Given the description of an element on the screen output the (x, y) to click on. 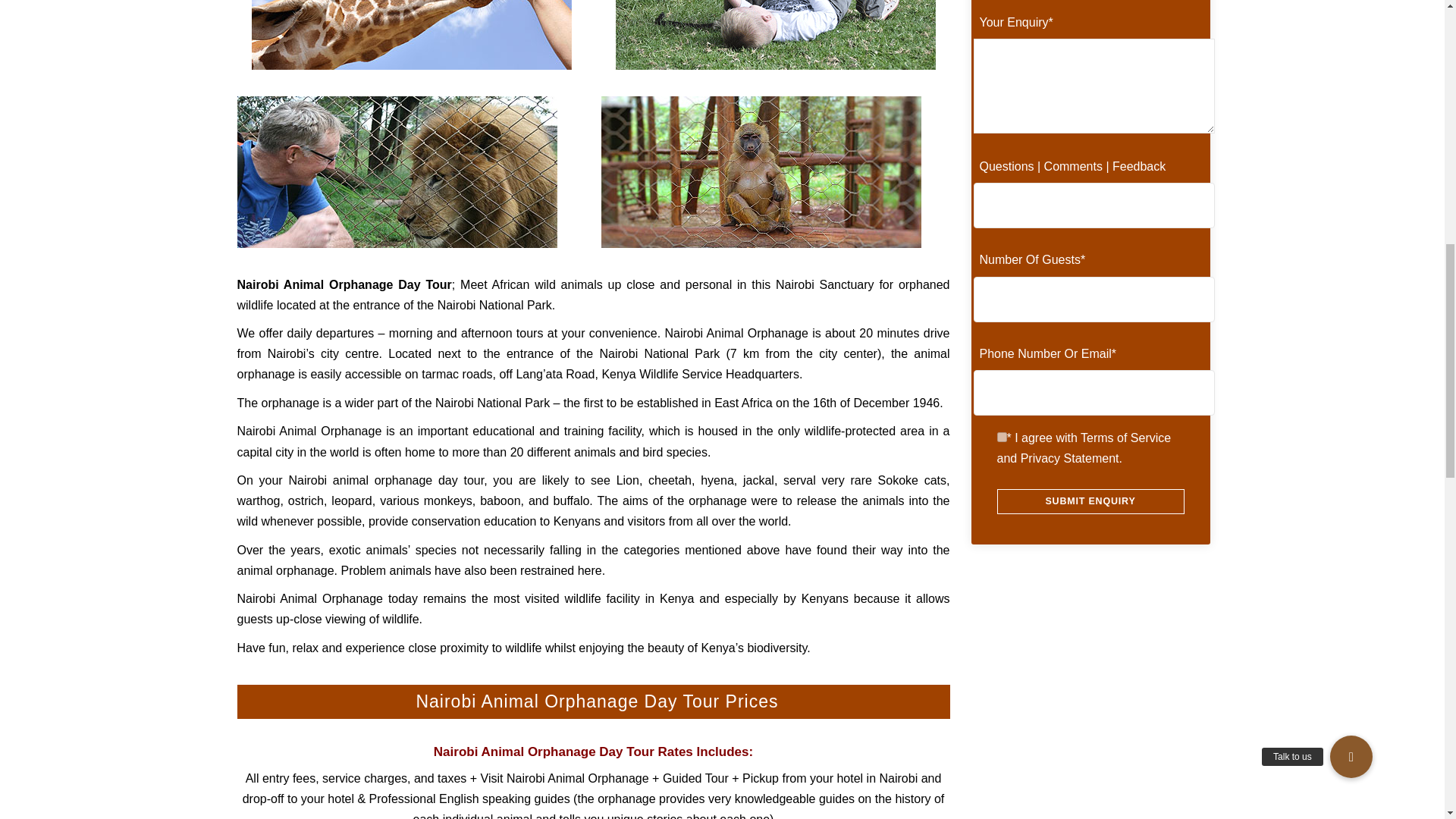
nairobi-orphanage-day-trip (759, 172)
nairobi-orphanage-day-trip (775, 34)
Submit Enquiry (1089, 501)
Submit Enquiry (1089, 501)
animal-orphanage-kenya (395, 172)
animal-orphanage-nairobi (411, 34)
on (1000, 437)
